Given the description of an element on the screen output the (x, y) to click on. 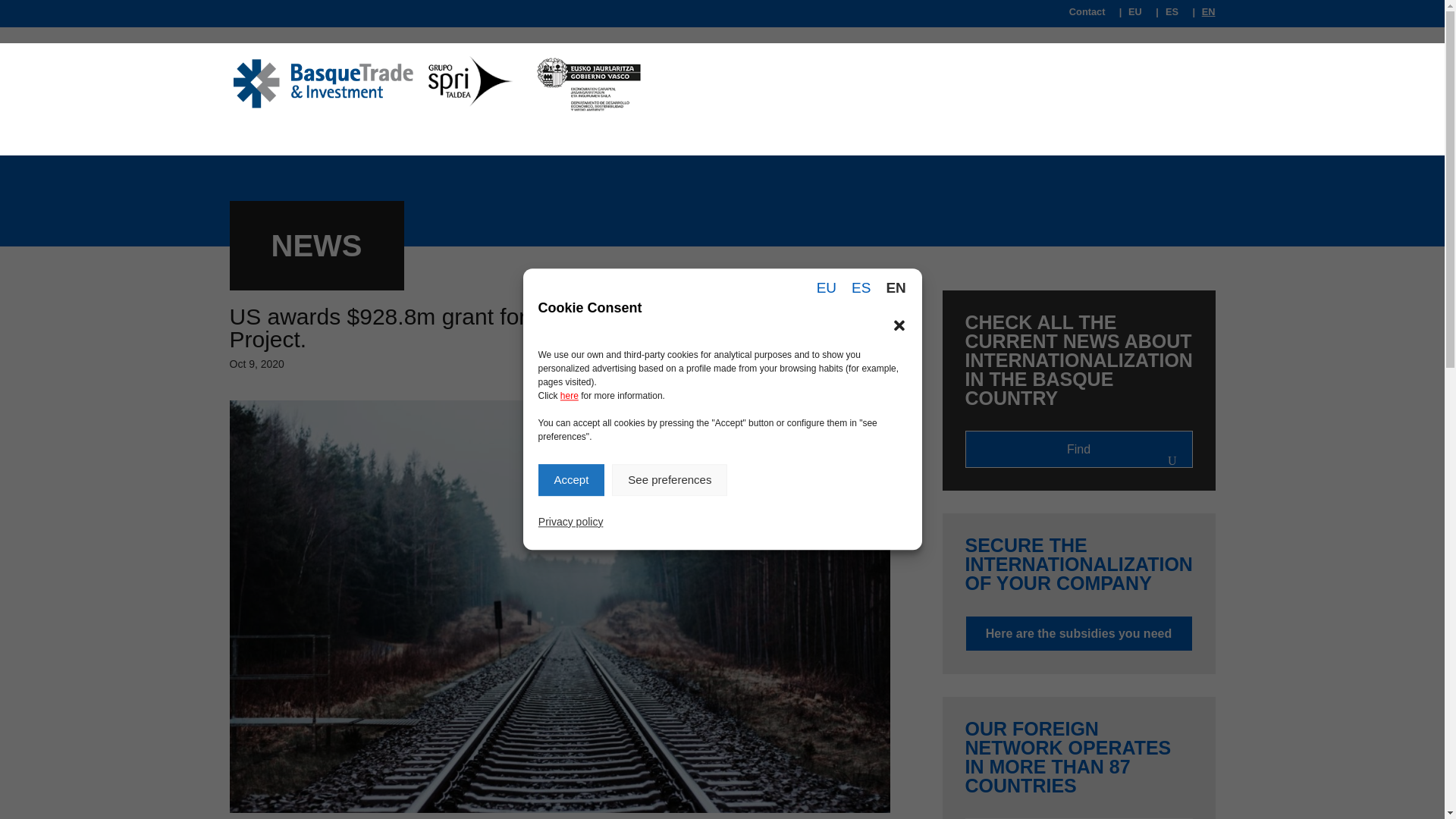
ES (861, 770)
EU (826, 799)
en (1203, 15)
Contact (1086, 15)
EU (1130, 15)
Accept (571, 730)
EN (1203, 15)
eu (1130, 15)
ES (1166, 15)
es (1166, 15)
See preferences (668, 654)
Privacy policy (571, 613)
